Given the description of an element on the screen output the (x, y) to click on. 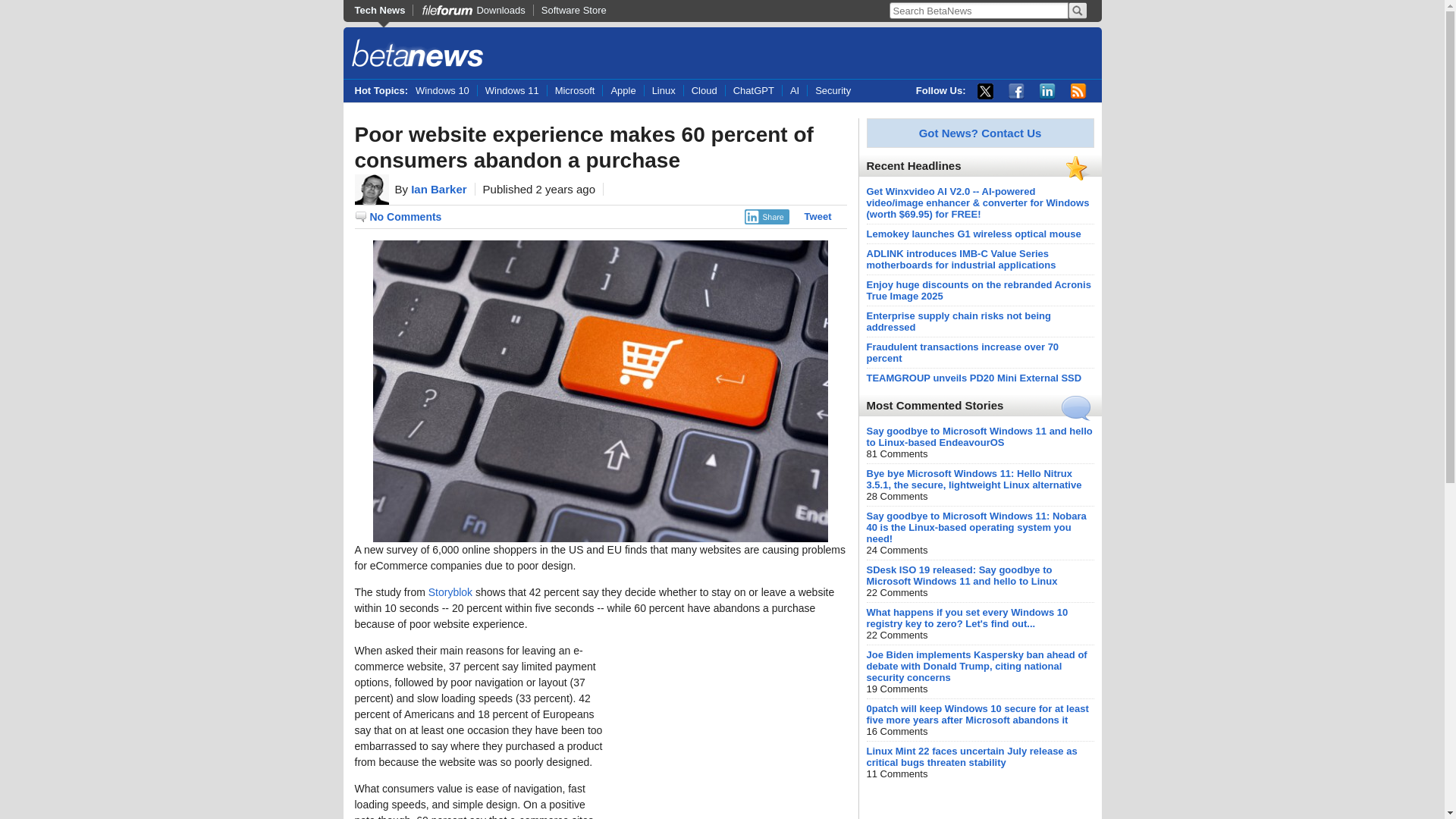
Software Store (573, 9)
Security (832, 90)
BetaNews (417, 54)
Storyblok (449, 592)
Microsoft (574, 90)
Ian Barker (437, 188)
Tweet (818, 215)
Got News? Contact Us (980, 132)
Linux (662, 90)
Advertisement (731, 730)
Facebook (1017, 91)
Search (1076, 10)
